Given the description of an element on the screen output the (x, y) to click on. 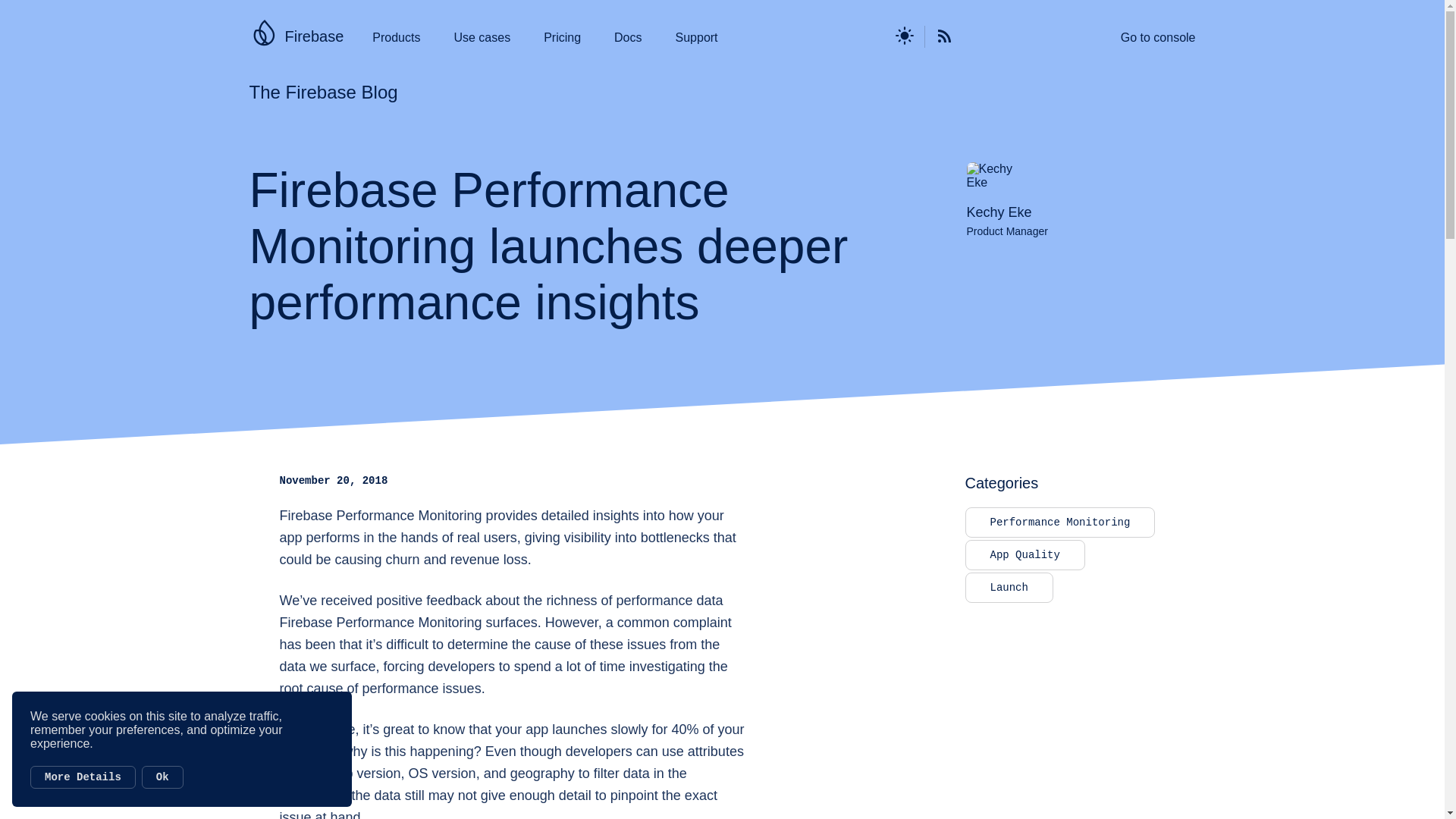
More Details (82, 776)
App Quality (1023, 554)
Launch (1007, 587)
Pricing (561, 37)
The Firebase Blog (322, 91)
Use cases (481, 37)
Go to the home page (263, 28)
Go to console (1158, 37)
Performance Monitoring (1058, 521)
Firebase (314, 36)
Ok (162, 776)
Active light mode theme (904, 36)
Docs (628, 37)
Products (396, 37)
Support (696, 37)
